Given the description of an element on the screen output the (x, y) to click on. 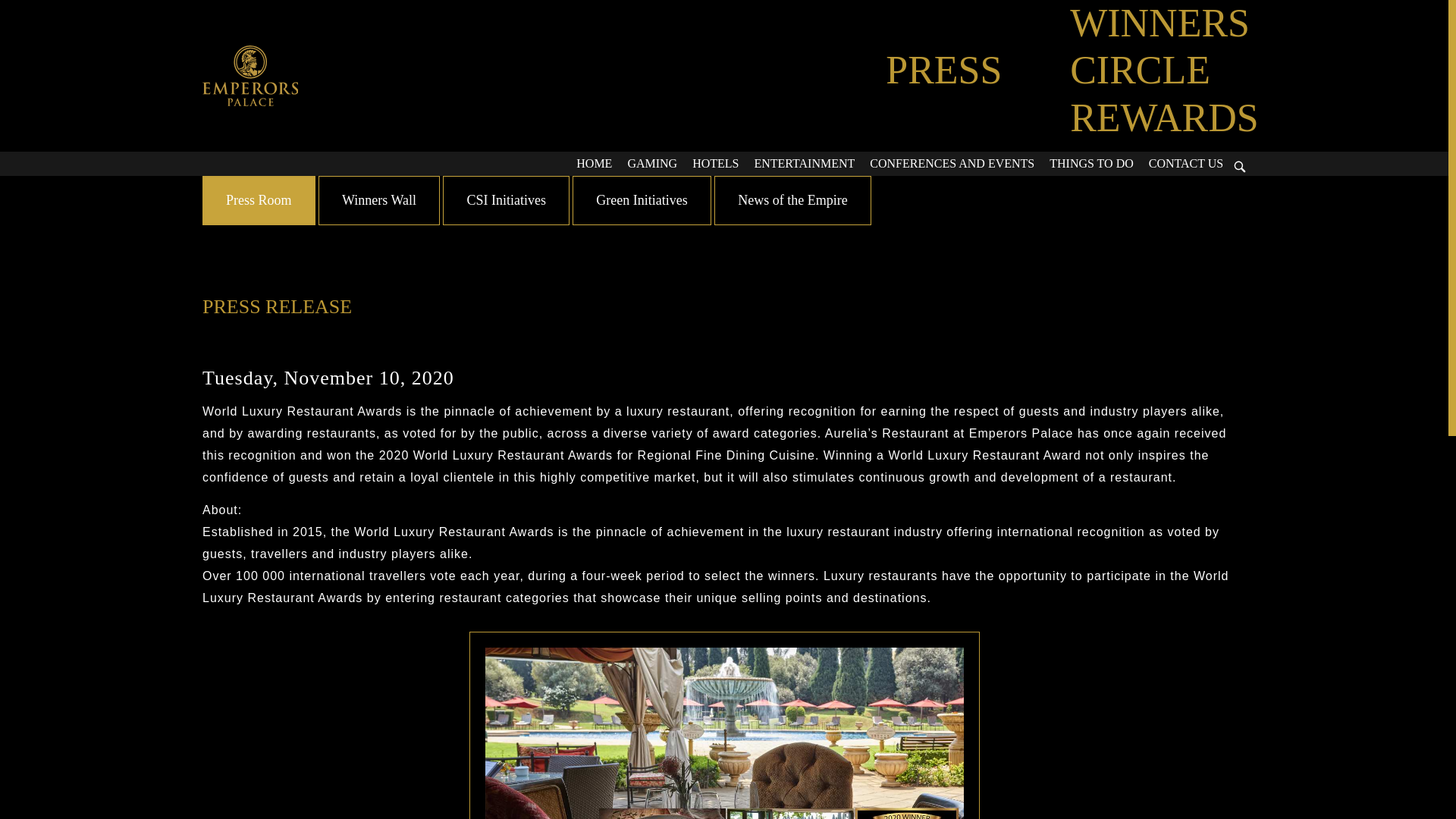
GAMING (652, 163)
HOTELS (714, 163)
HOME (594, 163)
Emperors Palace Logo Gold (250, 75)
ENTERTAINMENT (803, 163)
PRESS (943, 69)
WINNERS CIRCLE REWARDS (1163, 70)
